Given the description of an element on the screen output the (x, y) to click on. 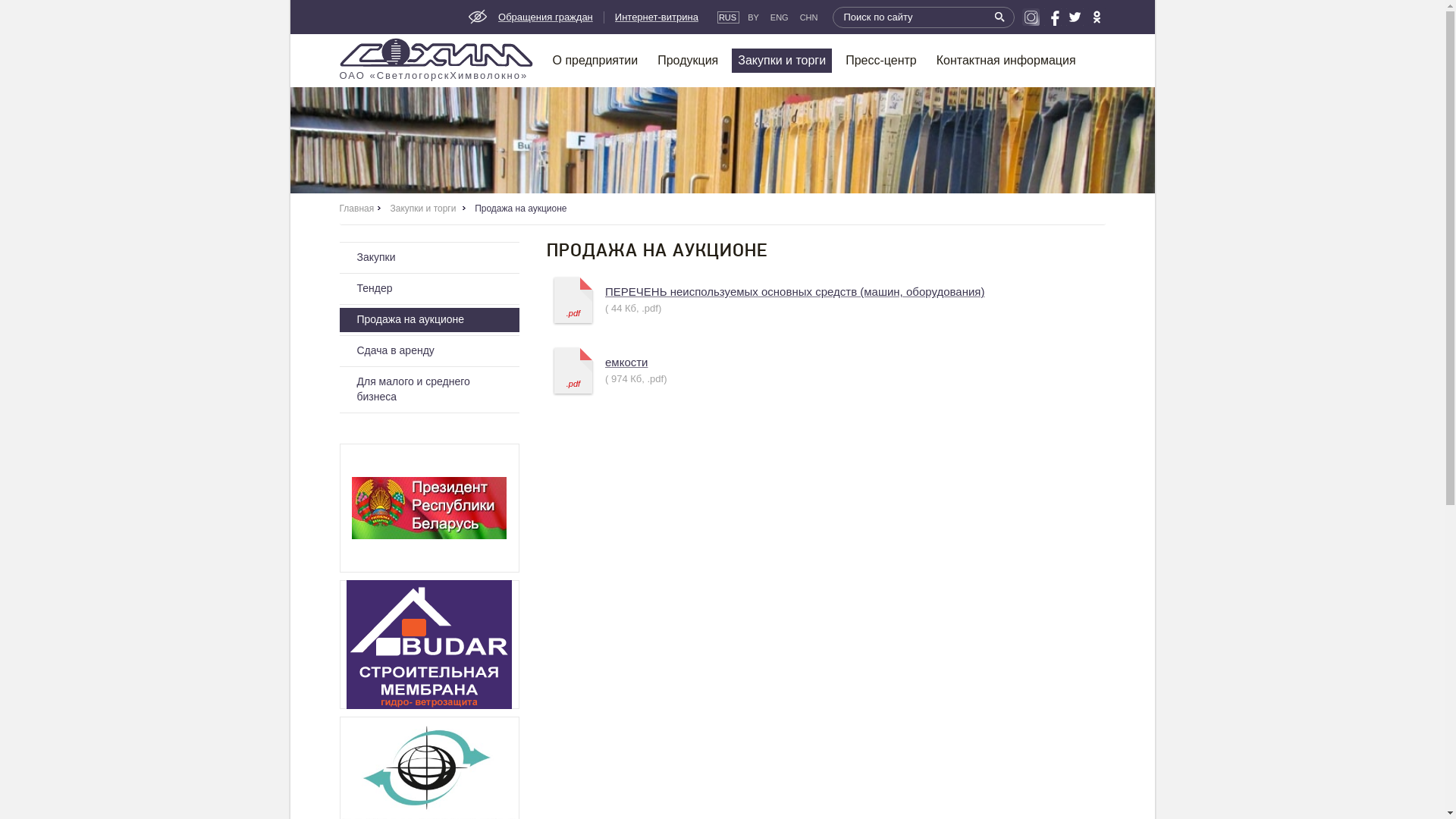
BY Element type: text (754, 16)
ENG Element type: text (779, 16)
CHN Element type: text (809, 16)
